Given the description of an element on the screen output the (x, y) to click on. 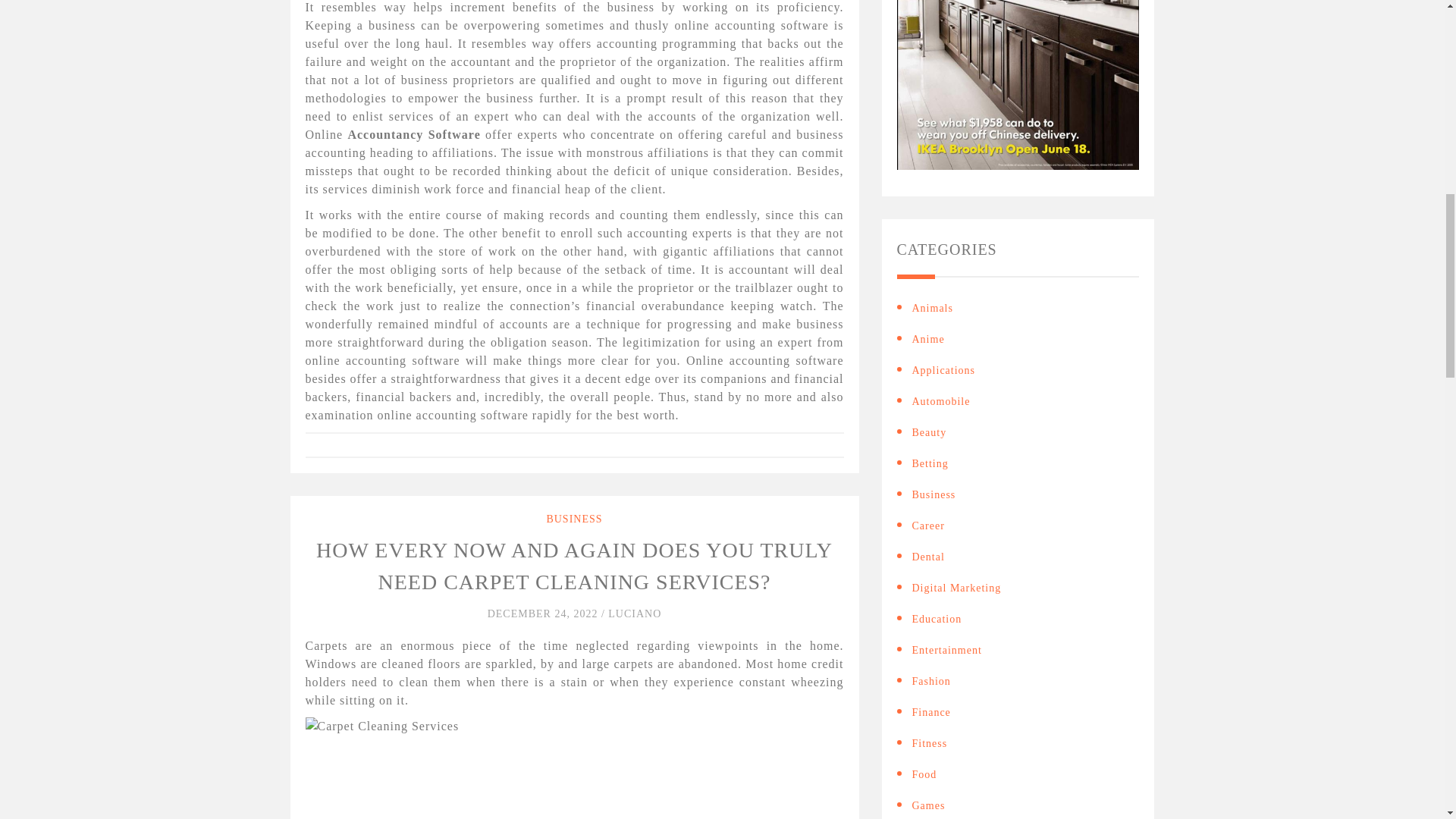
Posts by Luciano (634, 613)
LUCIANO (634, 613)
BUSINESS (574, 518)
Accountancy Software (413, 133)
DECEMBER 24, 2022 (544, 613)
Career (927, 525)
Applications (943, 370)
Automobile (940, 401)
Betting (929, 463)
